Given the description of an element on the screen output the (x, y) to click on. 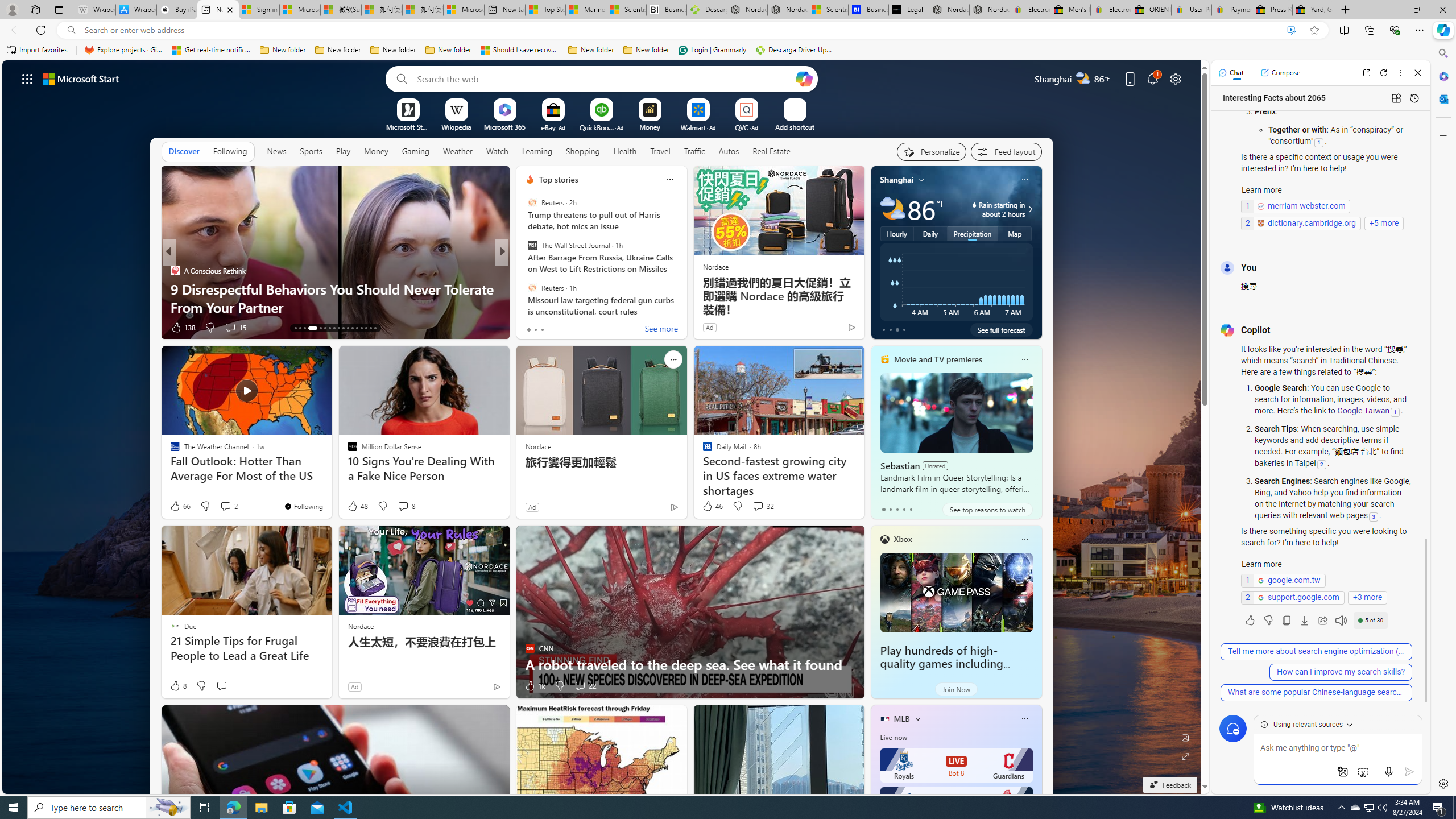
Edit Background (1185, 737)
More interests (917, 718)
Page settings (1175, 78)
tab-2 (897, 509)
tab-0 (882, 509)
186 Like (532, 327)
